Given the description of an element on the screen output the (x, y) to click on. 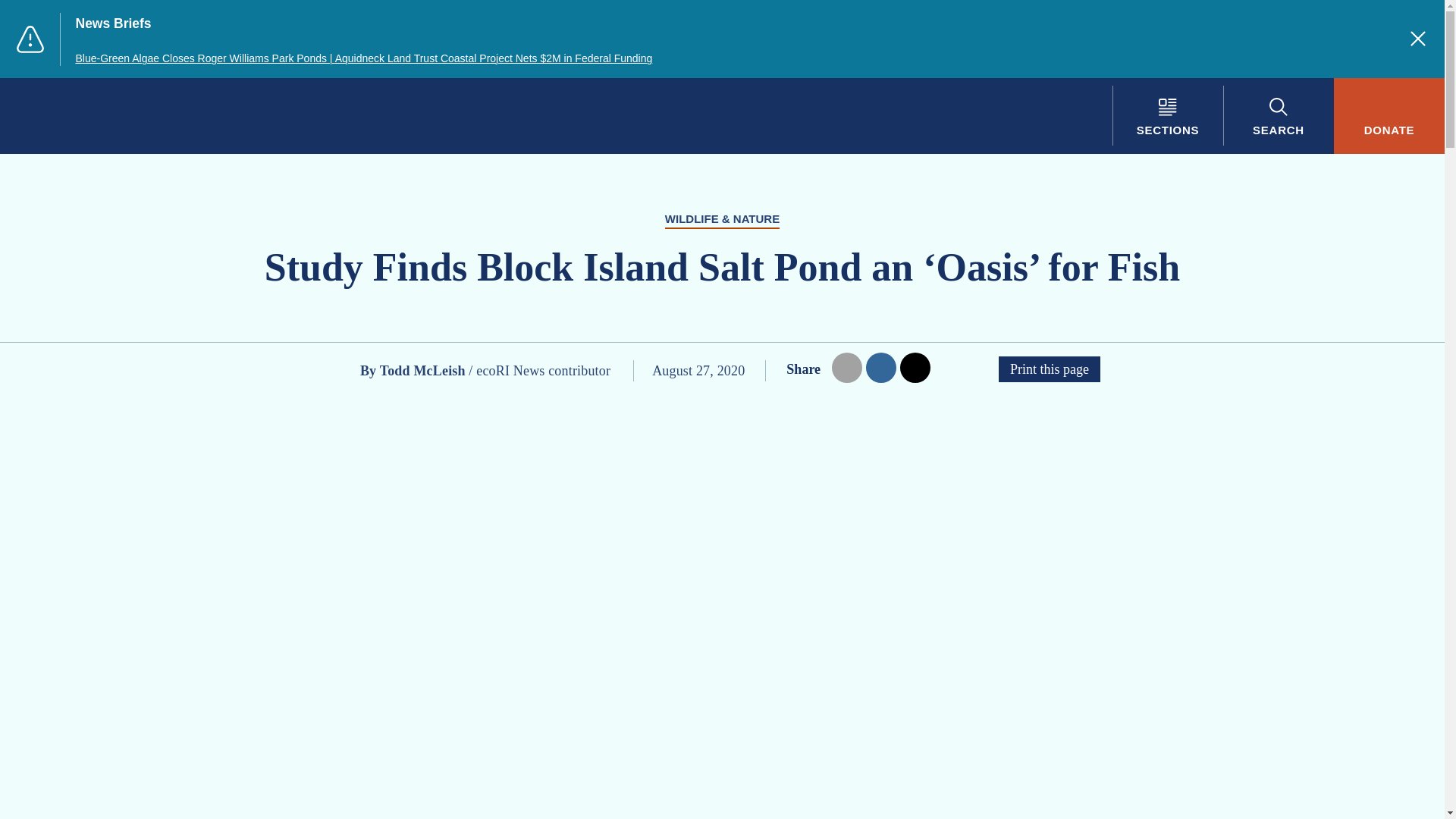
Close (1417, 38)
Alert (29, 39)
Search Button (1278, 115)
SECTIONS (1167, 115)
